Given the description of an element on the screen output the (x, y) to click on. 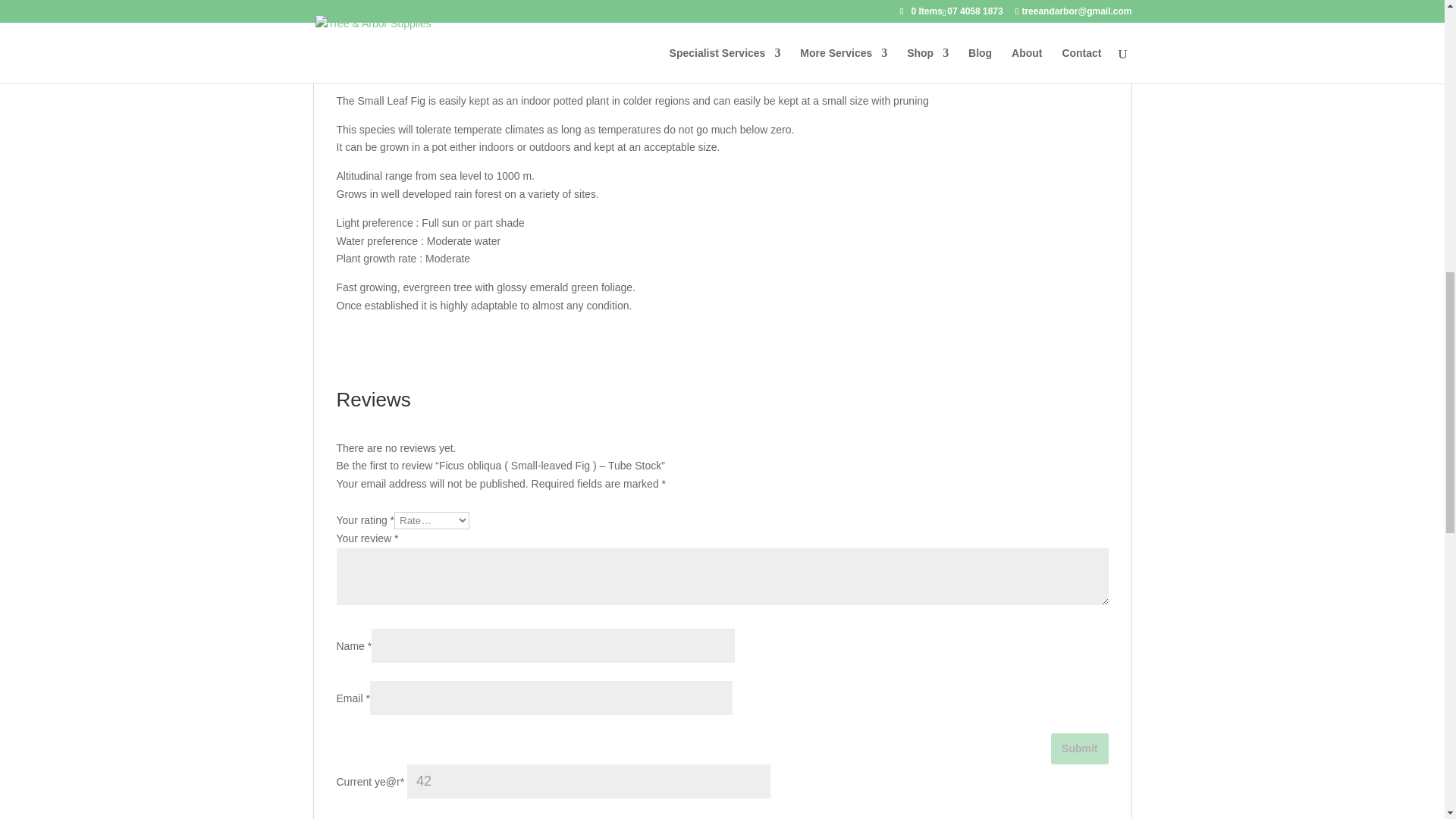
42 (588, 781)
Submit (1079, 748)
